Given the description of an element on the screen output the (x, y) to click on. 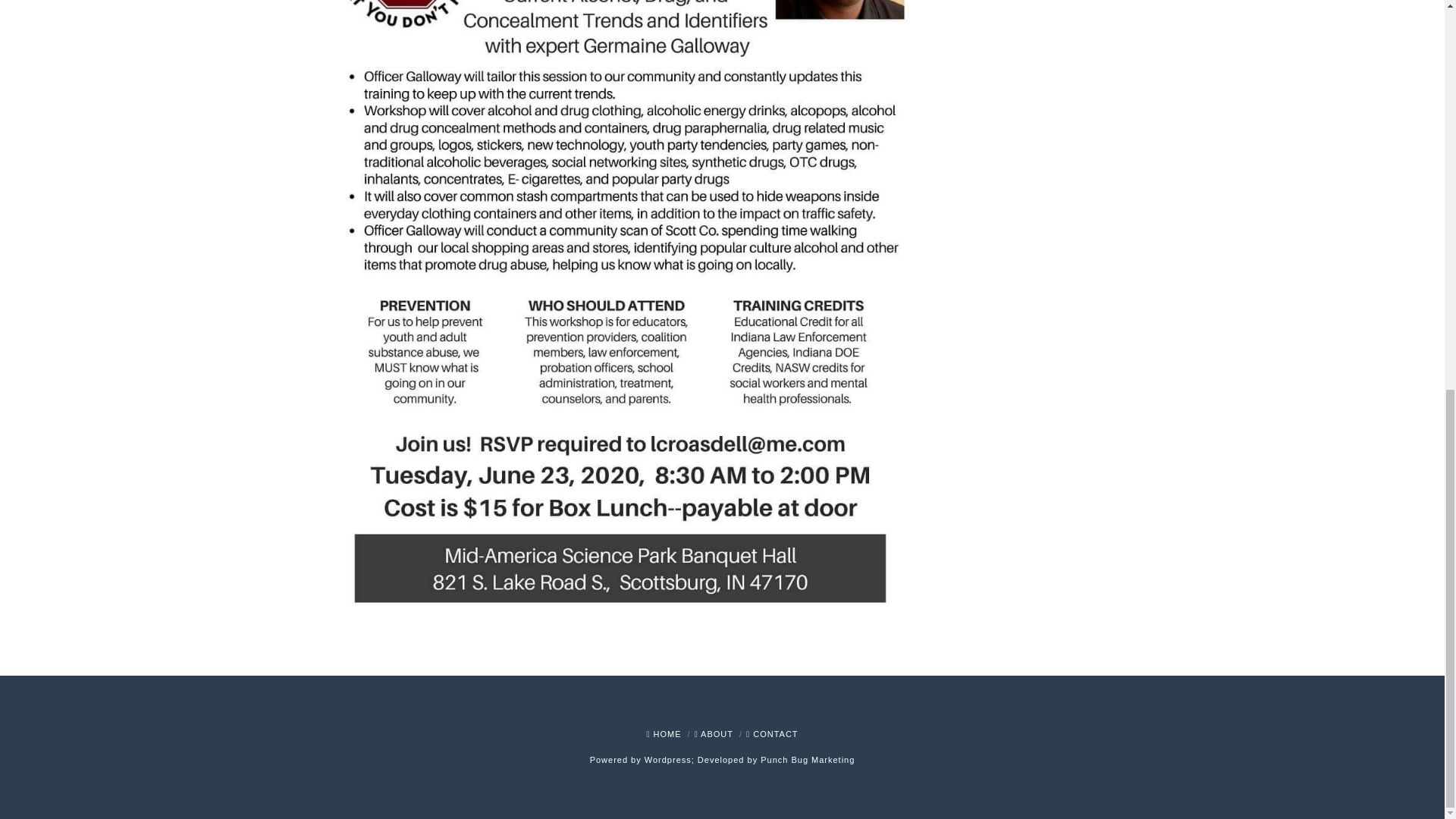
HOME (663, 733)
CONTACT (771, 733)
Web Design Company (807, 759)
Home (663, 733)
ABOUT (713, 733)
